Given the description of an element on the screen output the (x, y) to click on. 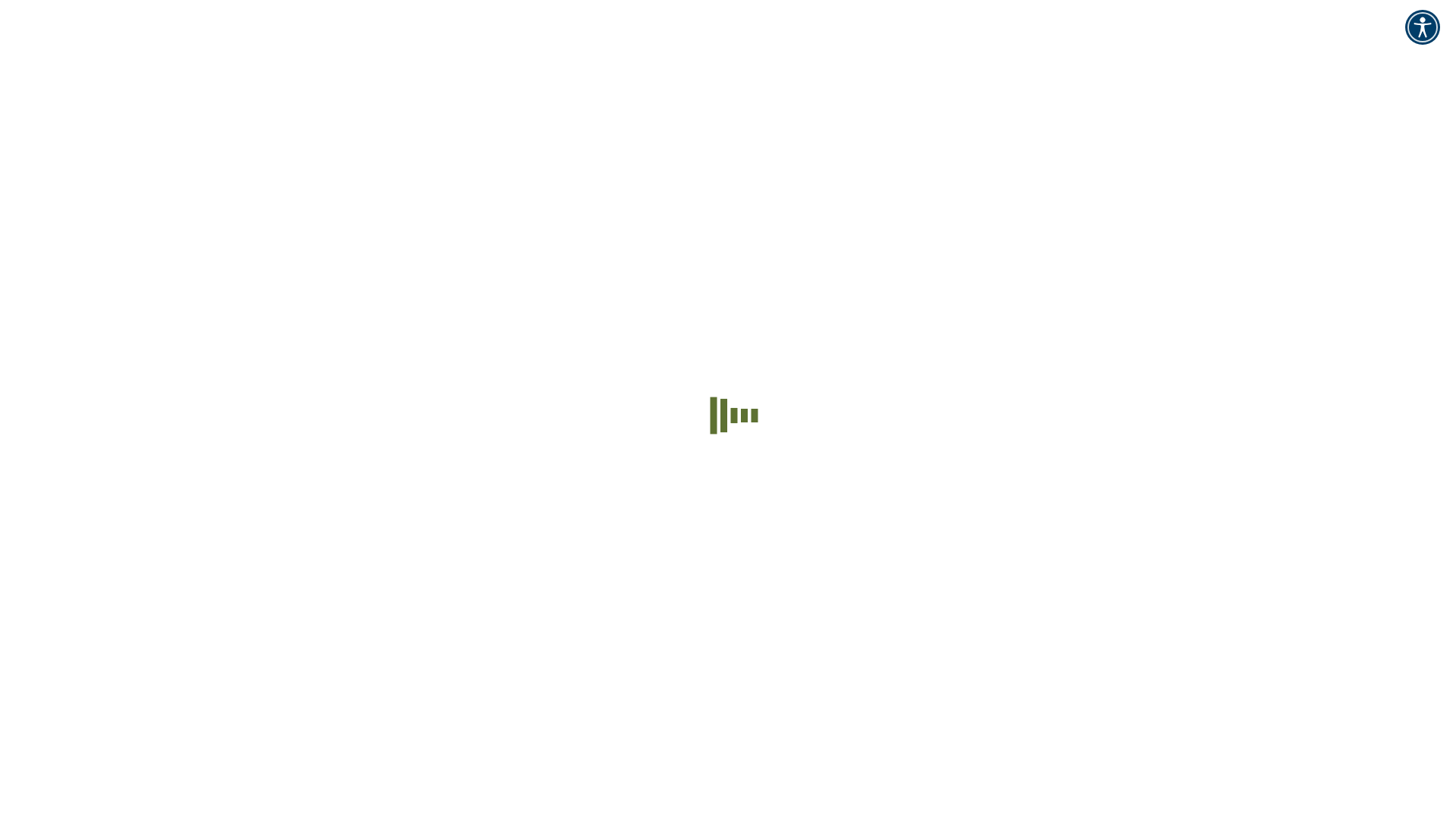
Previous (arrow left) Element type: hover (12, 654)
YouTube Element type: text (82, 558)
Share Element type: hover (27, 641)
Close (Esc) Element type: hover (12, 641)
Toggle fullscreen Element type: hover (42, 641)
logo Element type: hover (82, 142)
Go to Top Element type: text (30, 623)
Facebook Element type: text (29, 558)
Instagram Element type: text (136, 558)
Next (arrow right) Element type: hover (27, 654)
Zoom in/out Element type: hover (57, 641)
Skip to content Element type: text (42, 12)
